Given the description of an element on the screen output the (x, y) to click on. 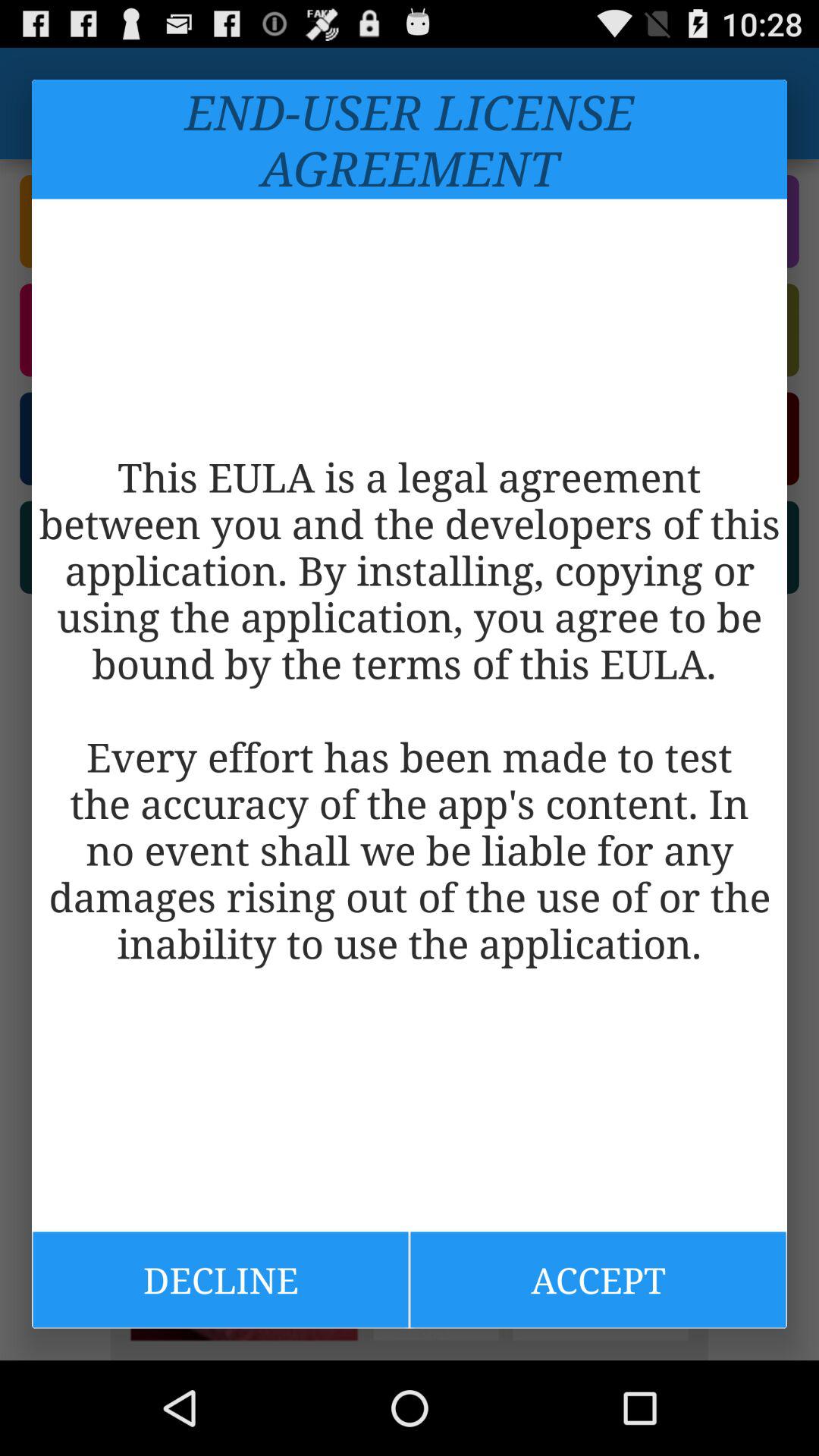
choose the icon to the right of decline item (598, 1279)
